Given the description of an element on the screen output the (x, y) to click on. 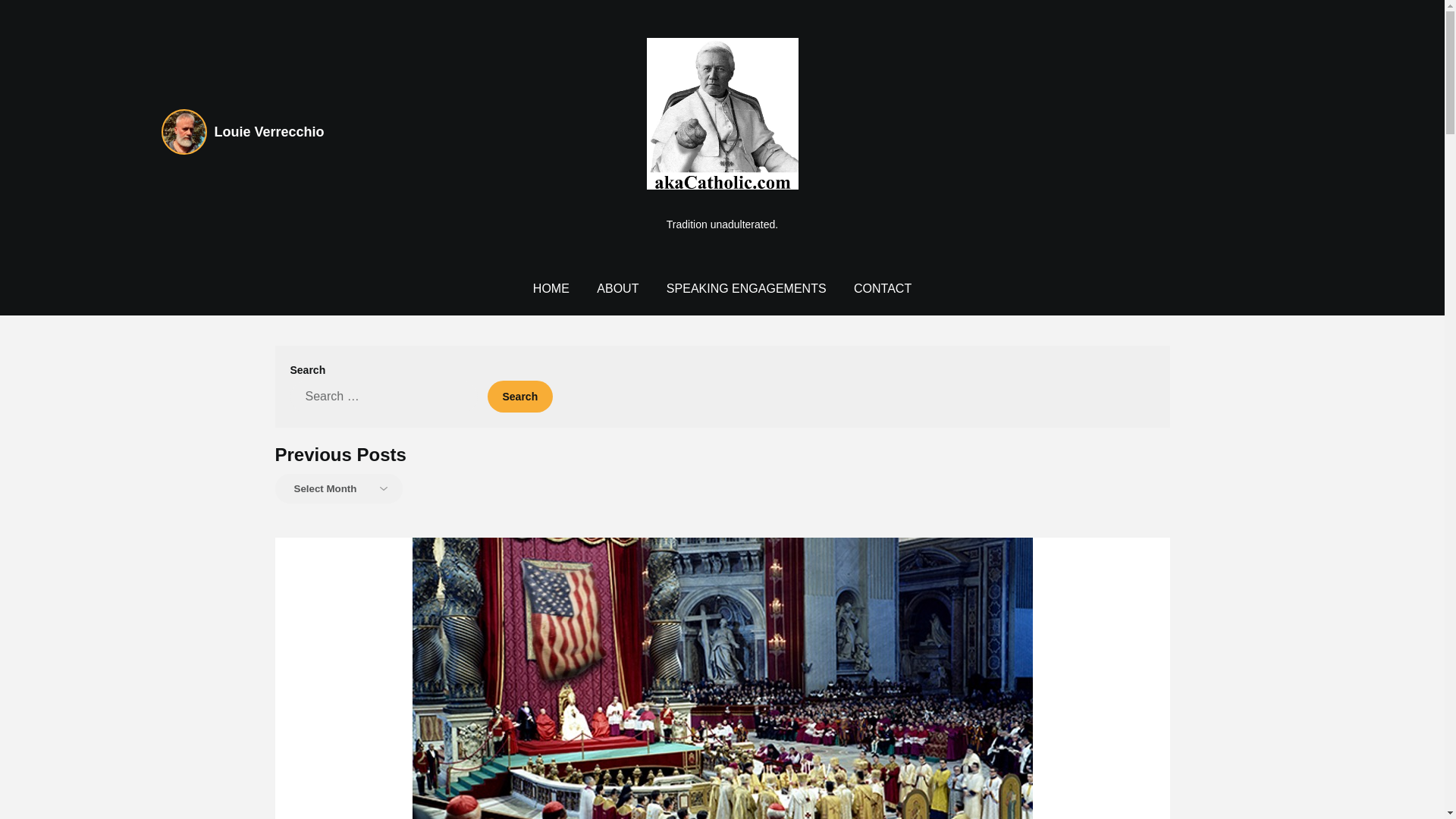
SPEAKING ENGAGEMENTS (745, 288)
Search (519, 396)
CONTACT (882, 288)
HOME (550, 288)
Search (519, 396)
ABOUT (617, 288)
Search (519, 396)
